Given the description of an element on the screen output the (x, y) to click on. 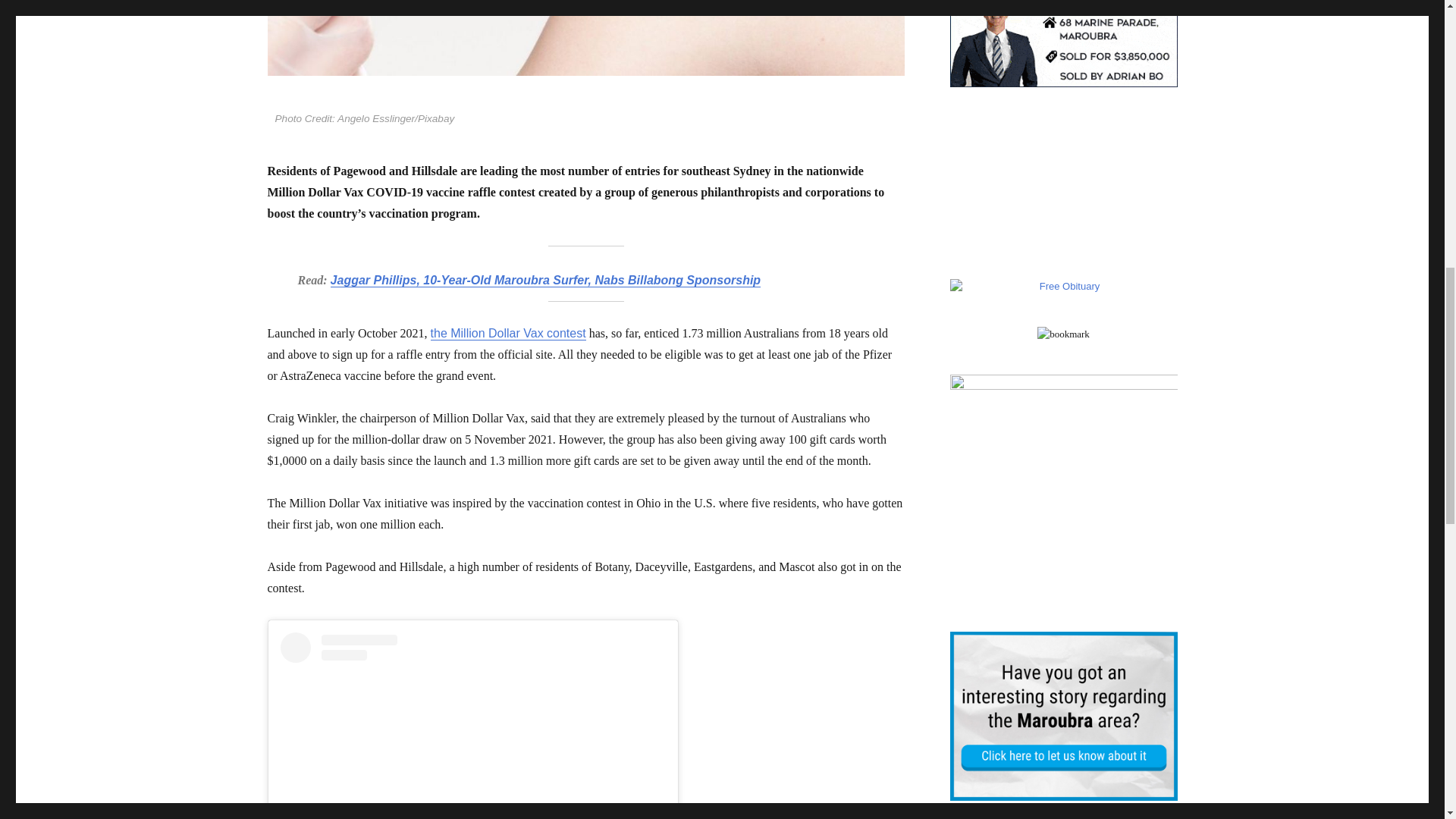
the Million Dollar Vax contest (508, 332)
View this post on Instagram (473, 725)
